Given the description of an element on the screen output the (x, y) to click on. 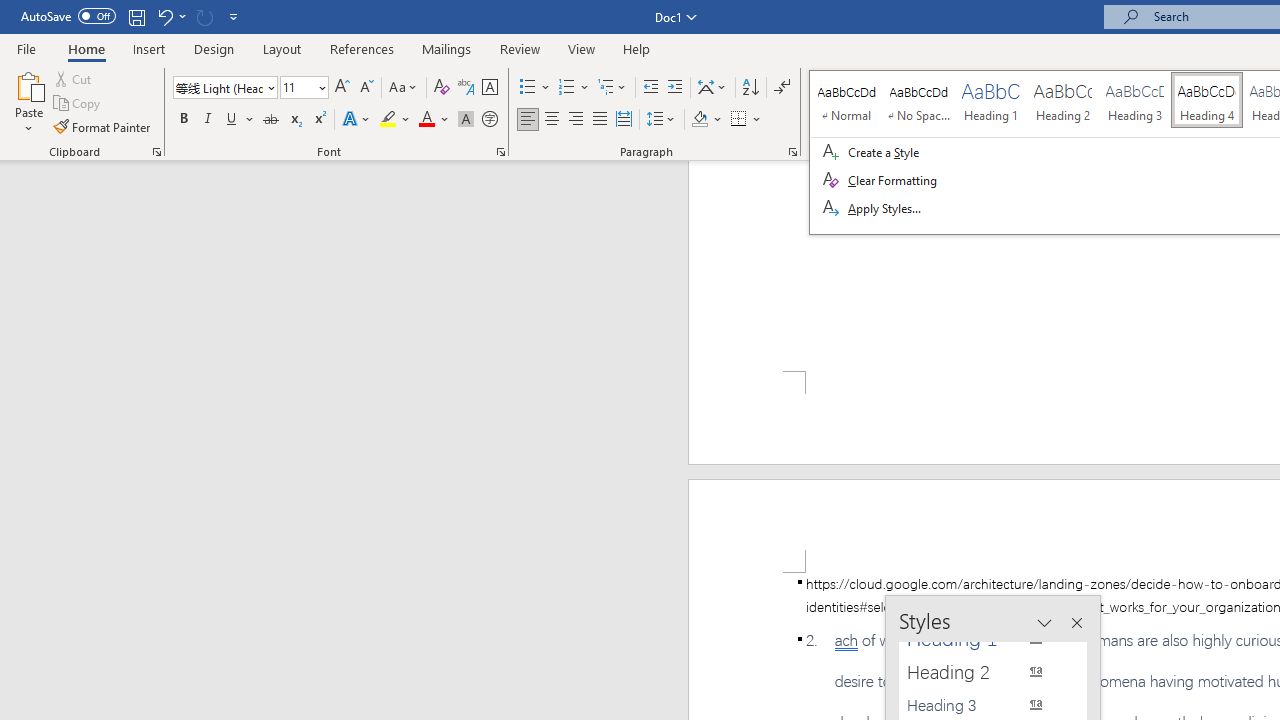
Heading 1 (984, 638)
Heading 2 (984, 672)
